Given the description of an element on the screen output the (x, y) to click on. 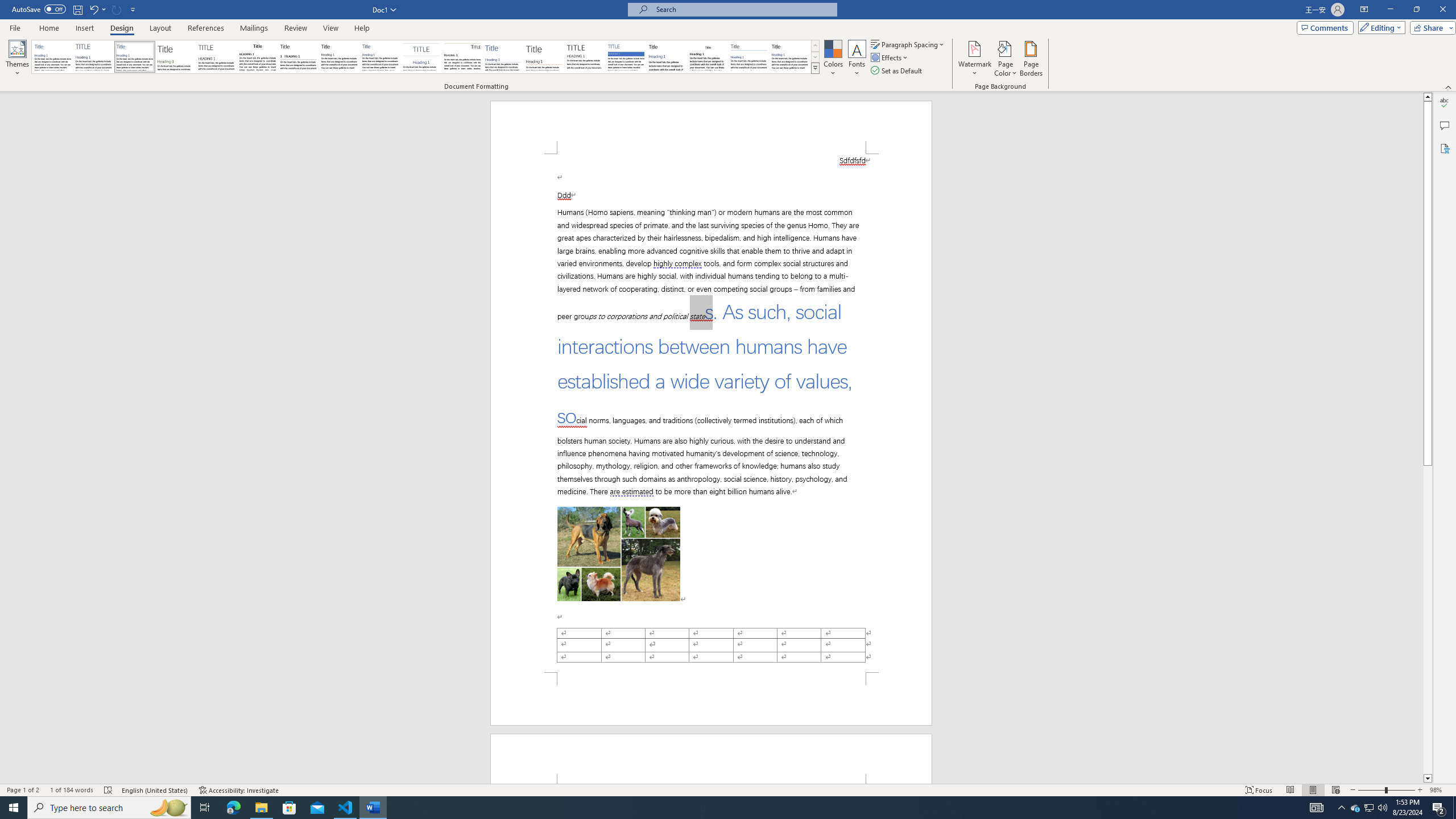
Undo Apply Quick Style Set (92, 9)
Black & White (Classic) (257, 56)
Basic (Elegant) (93, 56)
Can't Repeat (117, 9)
Page 1 content (710, 412)
